Given the description of an element on the screen output the (x, y) to click on. 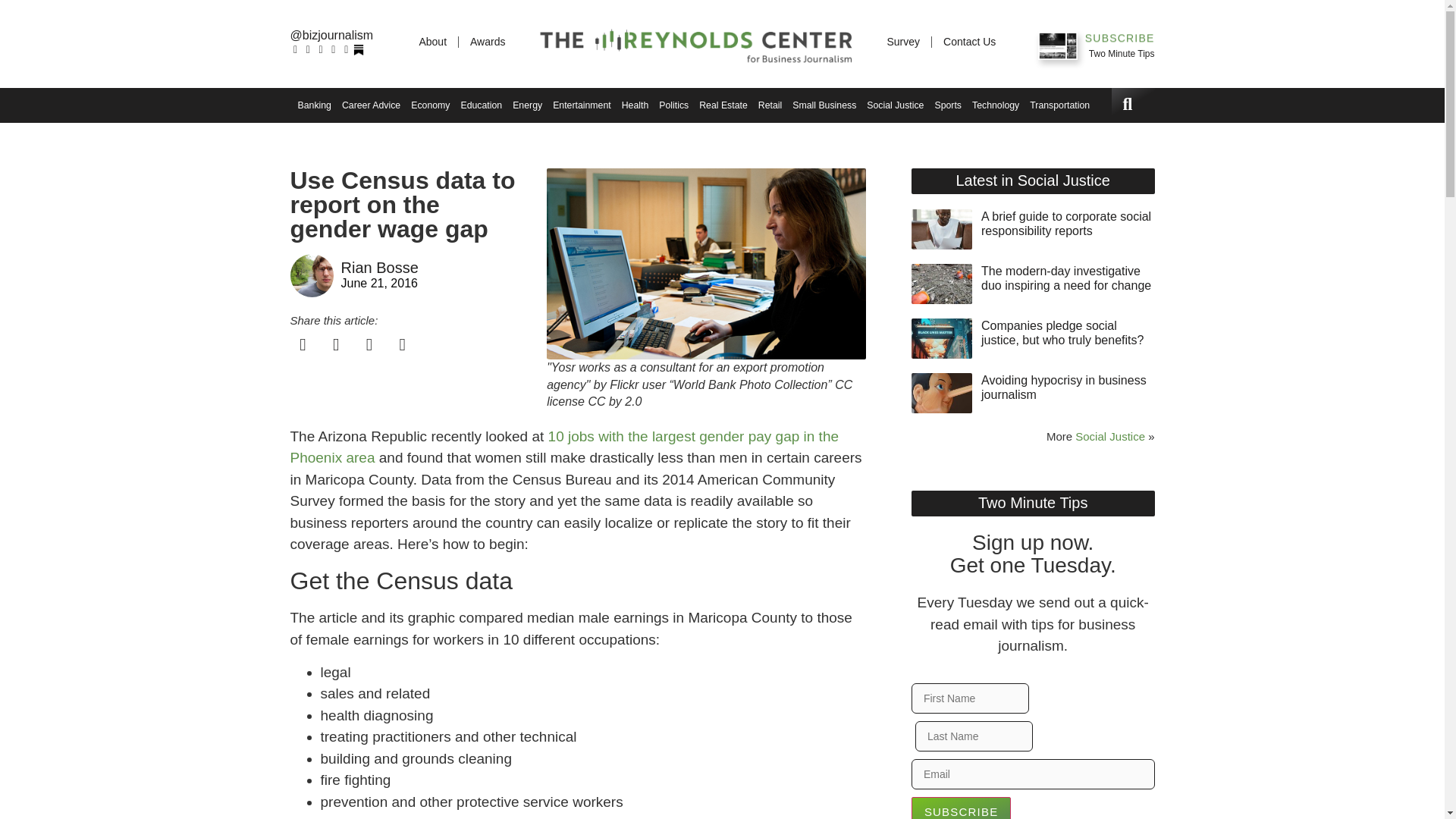
Transportation (1059, 104)
About (432, 41)
Real Estate (723, 104)
Sports (947, 104)
Contact Us (969, 41)
Retail (769, 104)
Awards (487, 41)
Politics (673, 104)
SUBSCRIBE (1119, 38)
Energy (526, 104)
